Given the description of an element on the screen output the (x, y) to click on. 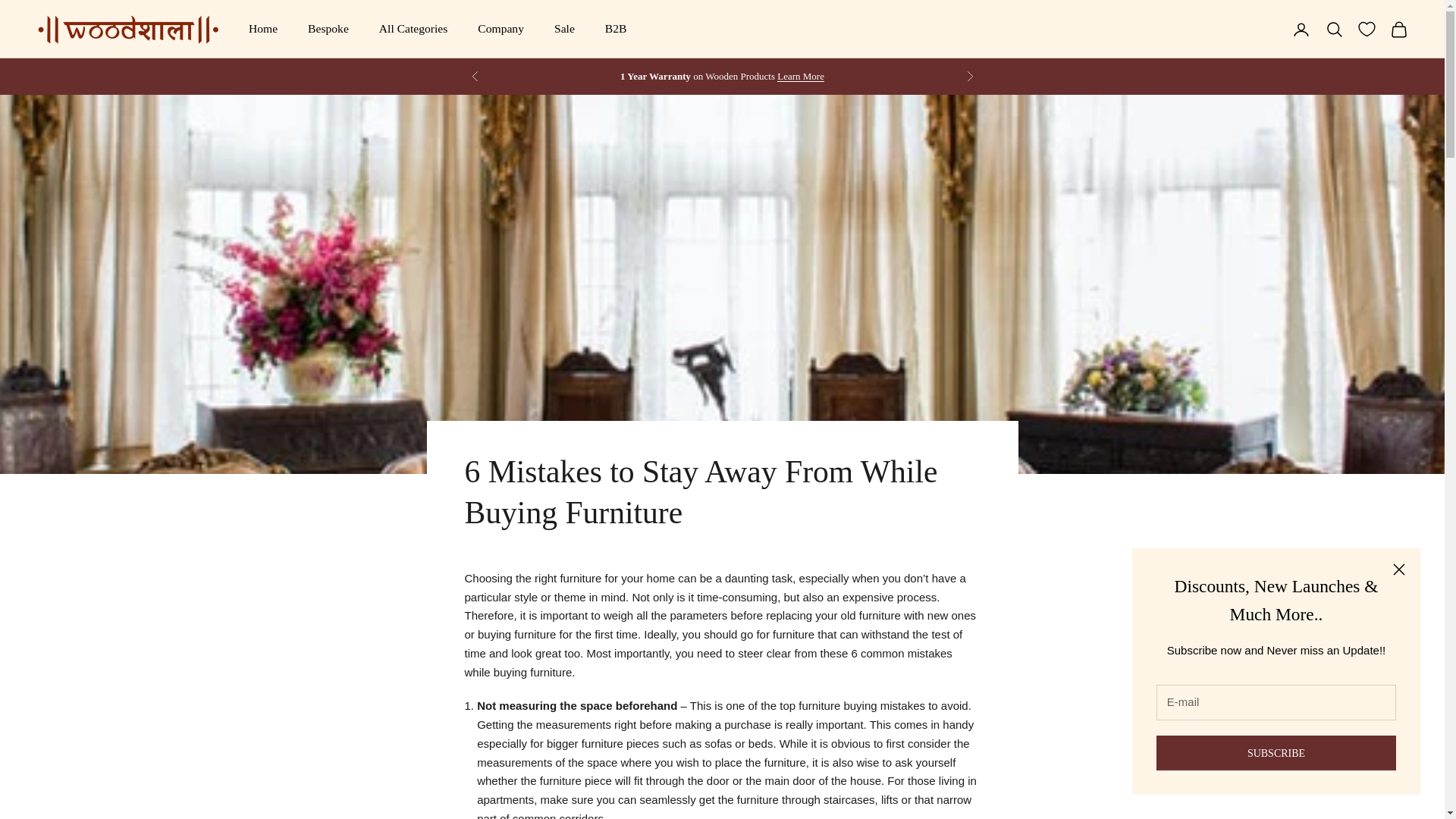
Newsletter popup (1276, 670)
Warranty (800, 75)
Bespoke (328, 28)
Home (263, 28)
Woodshala (127, 29)
